Given the description of an element on the screen output the (x, y) to click on. 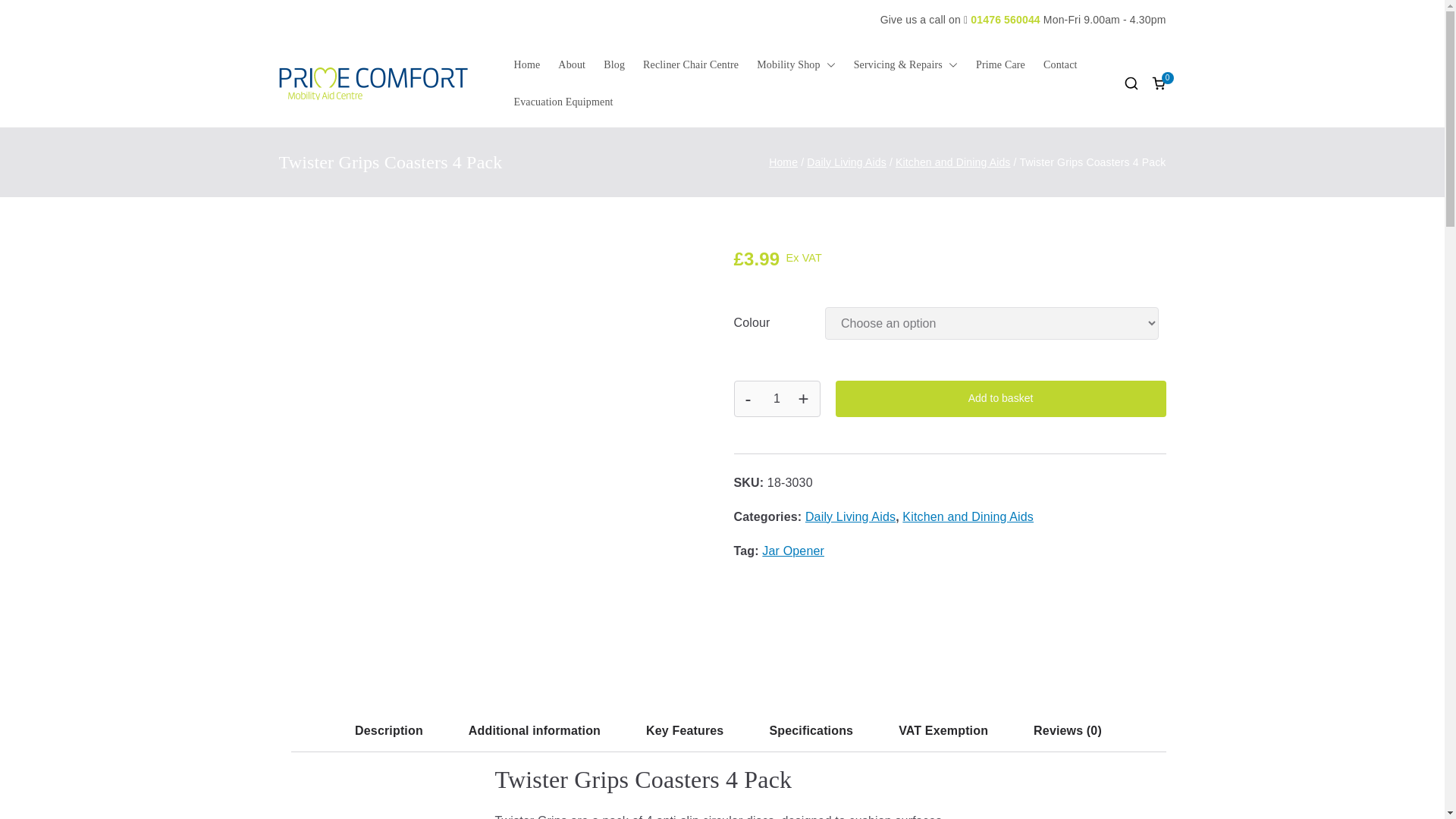
About (571, 64)
Recliner Chair Centre (690, 64)
Home (526, 64)
Mobility Shop (795, 64)
View your shopping basket (1158, 83)
Prime Comfort Mobility Aid Centre Grantham (630, 93)
Blog (614, 64)
